Given the description of an element on the screen output the (x, y) to click on. 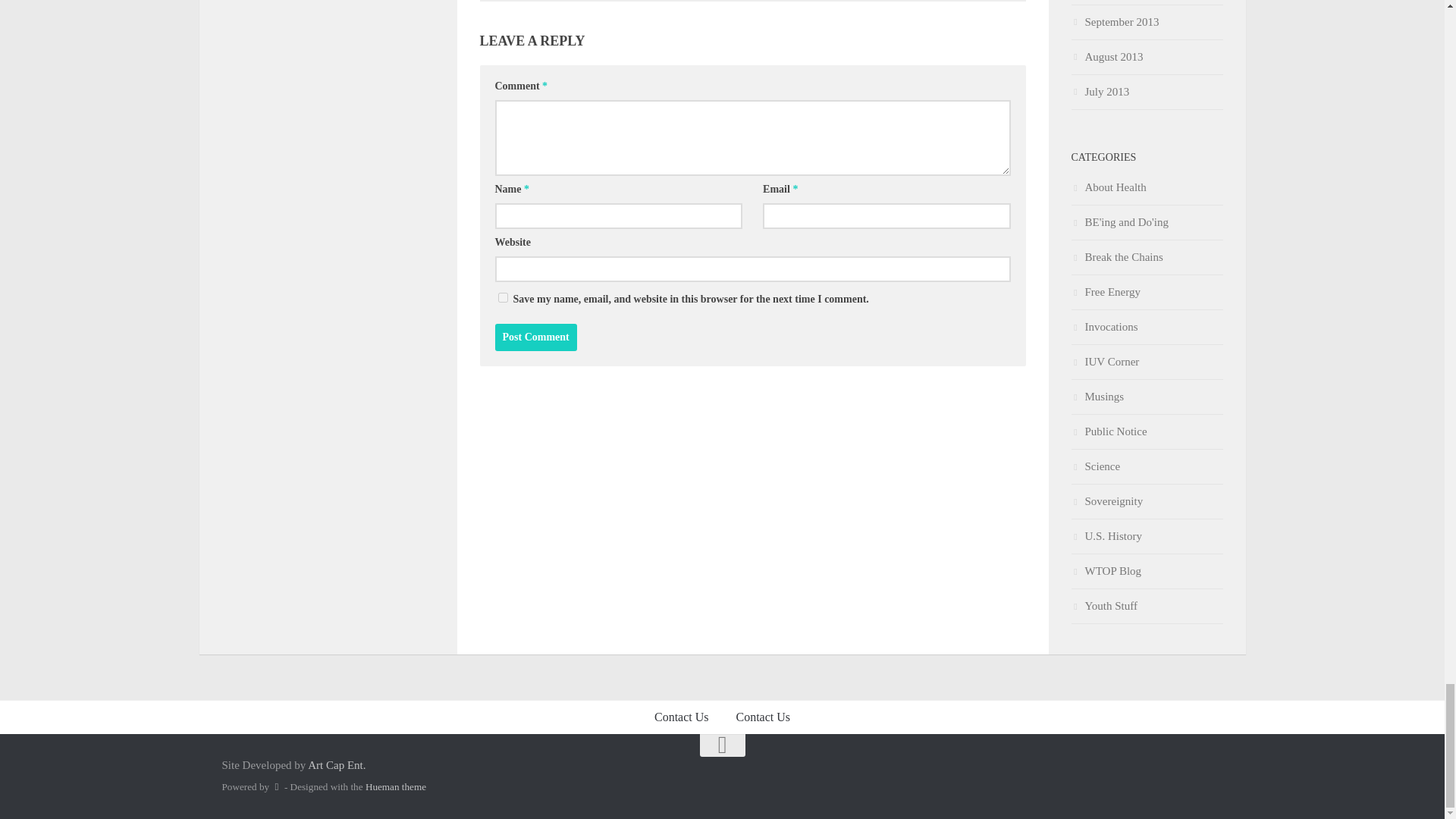
yes (501, 296)
Hueman theme (395, 786)
Powered by WordPress (275, 786)
Post Comment (535, 337)
